Given the description of an element on the screen output the (x, y) to click on. 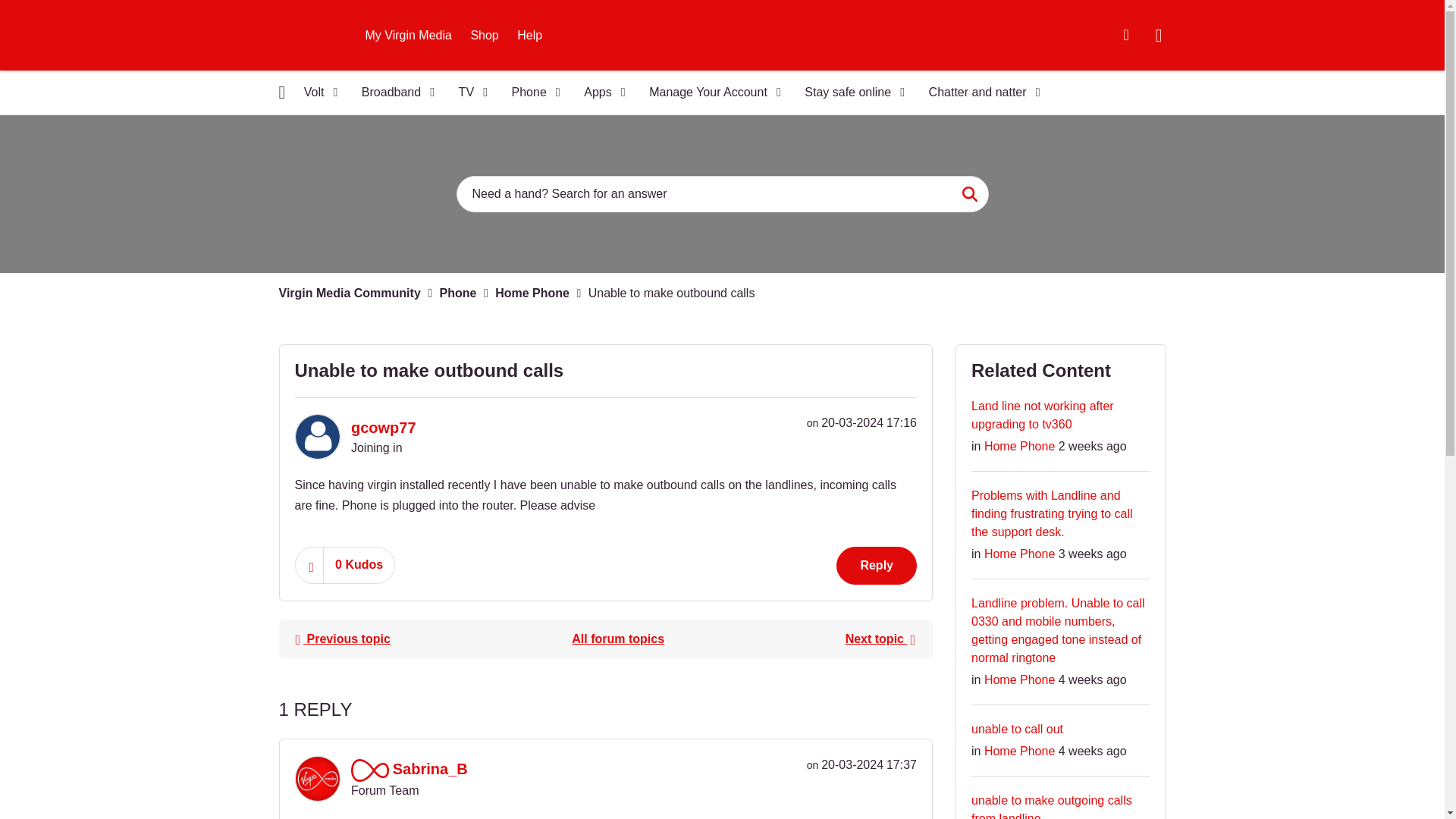
Possible cross line fault (341, 638)
Phone (531, 92)
Search (722, 194)
Help (529, 34)
Volt (315, 92)
Shop (484, 34)
Search (969, 193)
My Virgin Media (409, 34)
Virgin Media (314, 35)
TV (468, 92)
